Given the description of an element on the screen output the (x, y) to click on. 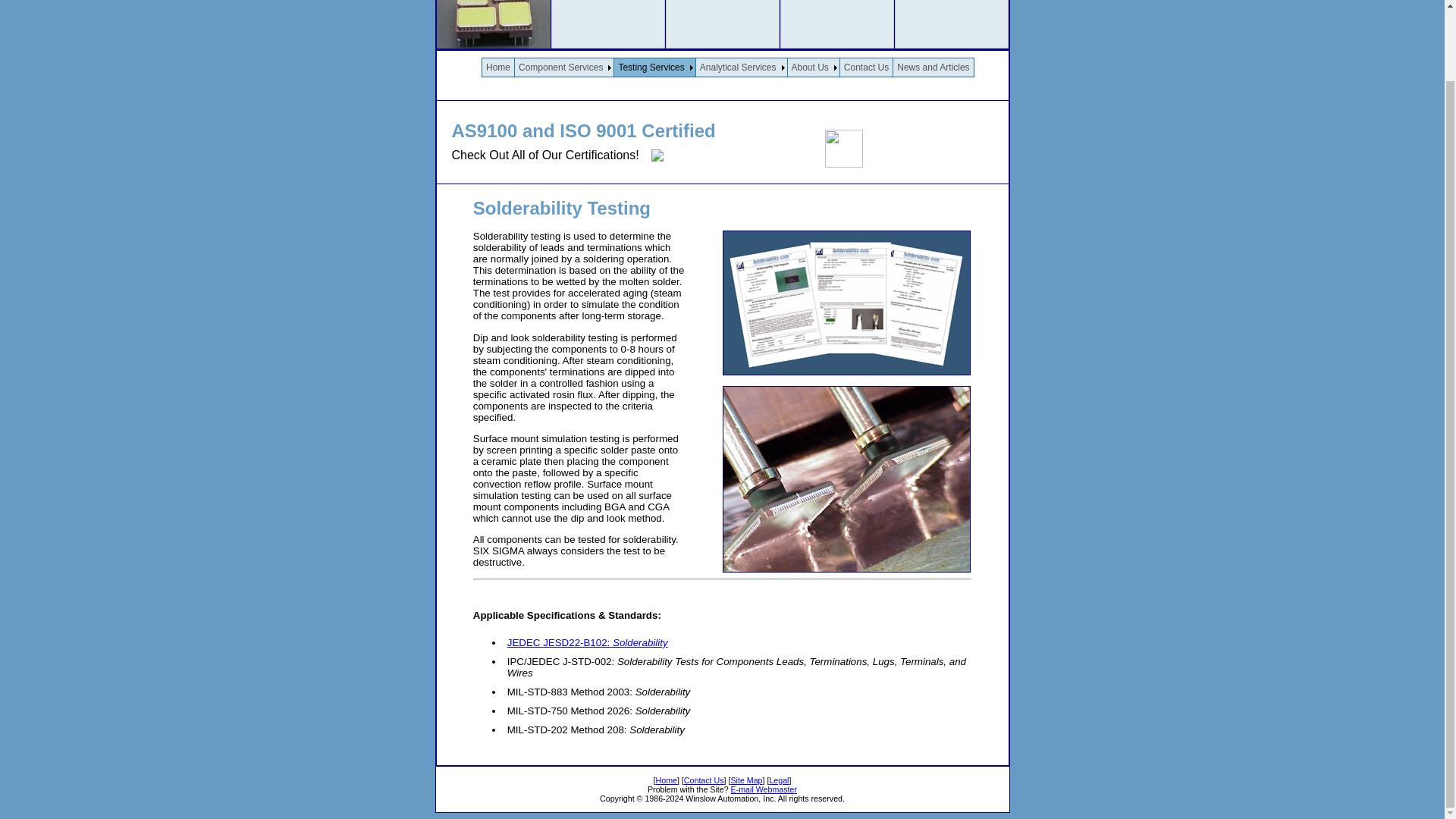
News and Articles (932, 67)
Site Map (745, 779)
Legal (778, 779)
Contact Us (866, 67)
E-mail Webmaster (763, 788)
Home (498, 67)
JEDEC JESD22-B102: Solderability (587, 642)
Home (666, 779)
Contact Us (703, 779)
